Given the description of an element on the screen output the (x, y) to click on. 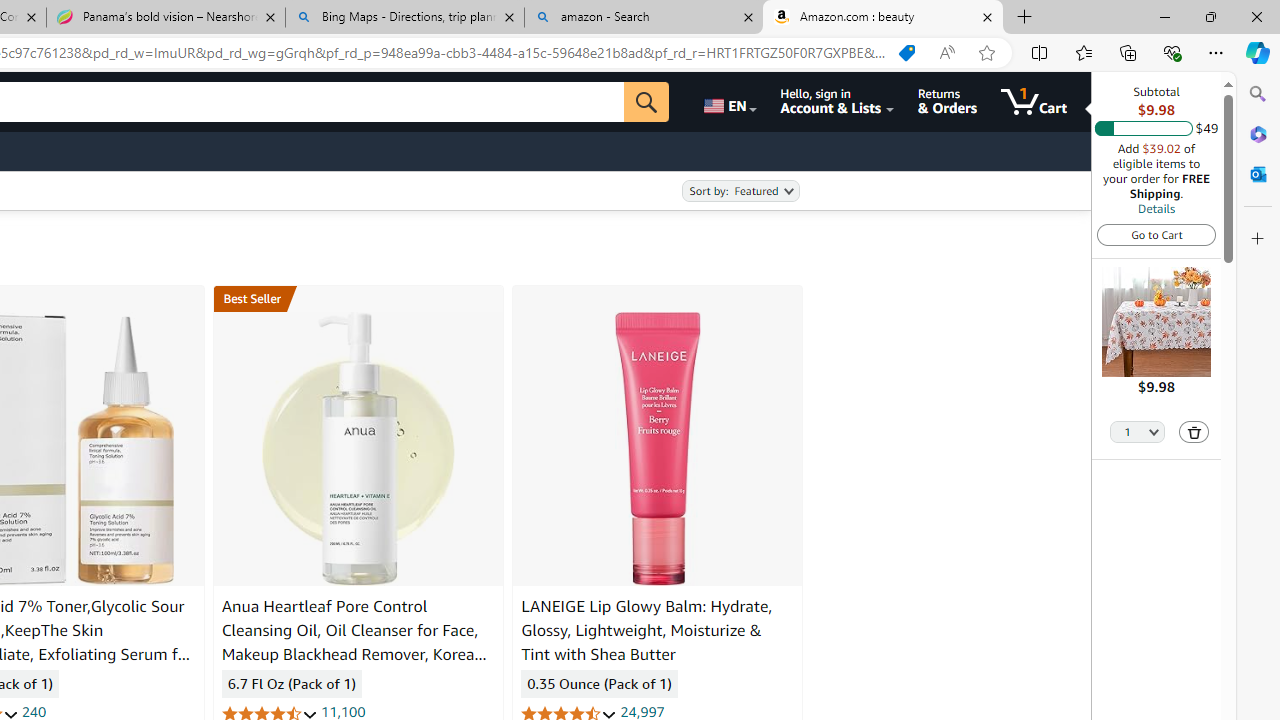
1 item in cart (1034, 101)
Hello, sign in Account & Lists (836, 101)
Amazon.com : beauty (883, 17)
Choose a language for shopping. (728, 101)
amazon - Search (643, 17)
11,100 (343, 712)
Details (1156, 208)
